Given the description of an element on the screen output the (x, y) to click on. 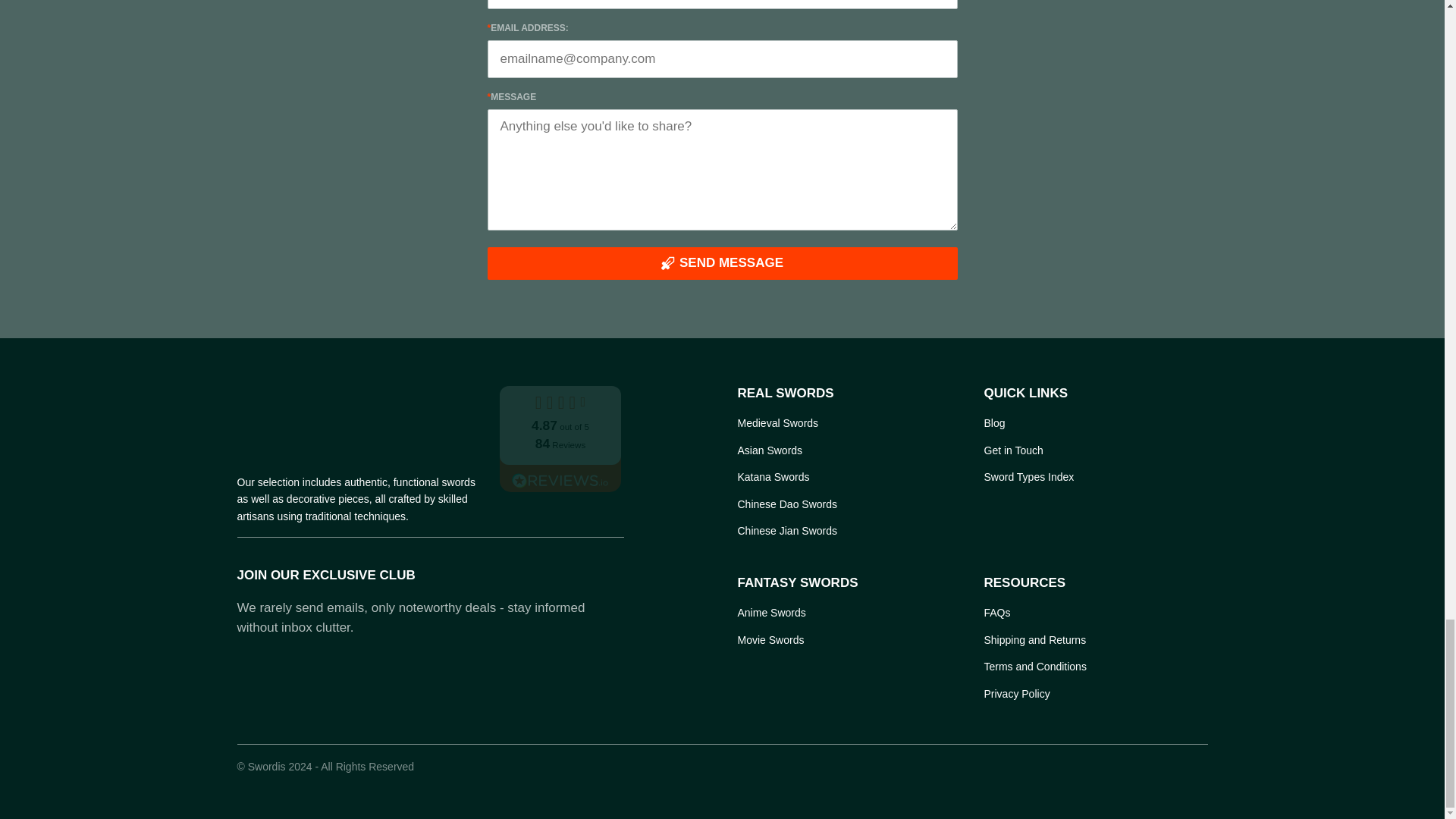
Reviews Badge Modern Widget (560, 438)
